Given the description of an element on the screen output the (x, y) to click on. 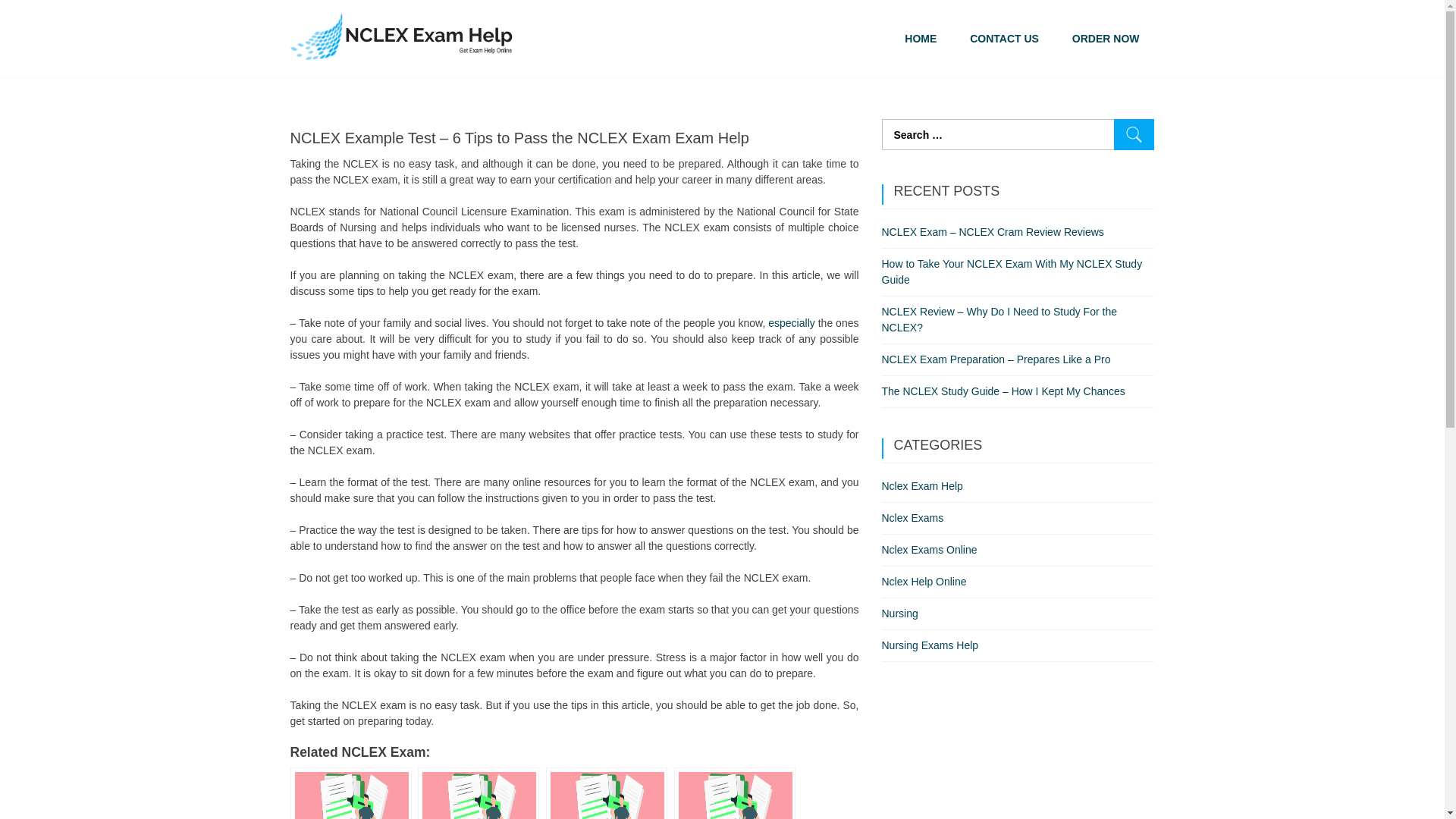
Sample NCLEX Questions on Emergency Nursing (477, 793)
especially (790, 322)
Take My NCLEX Exam Application Form (734, 793)
Nursing Exams Help (929, 645)
CONTACT US (1004, 38)
Nclex Help Online (923, 581)
Nclex Exam Help (921, 485)
Nursing (898, 613)
ORDER NOW (1105, 38)
Nclex Exams (911, 517)
Search (1133, 133)
Search (1133, 133)
Search (1133, 133)
Sample NCLEX Questions on Emergency Nursing (477, 793)
HOME (920, 38)
